Given the description of an element on the screen output the (x, y) to click on. 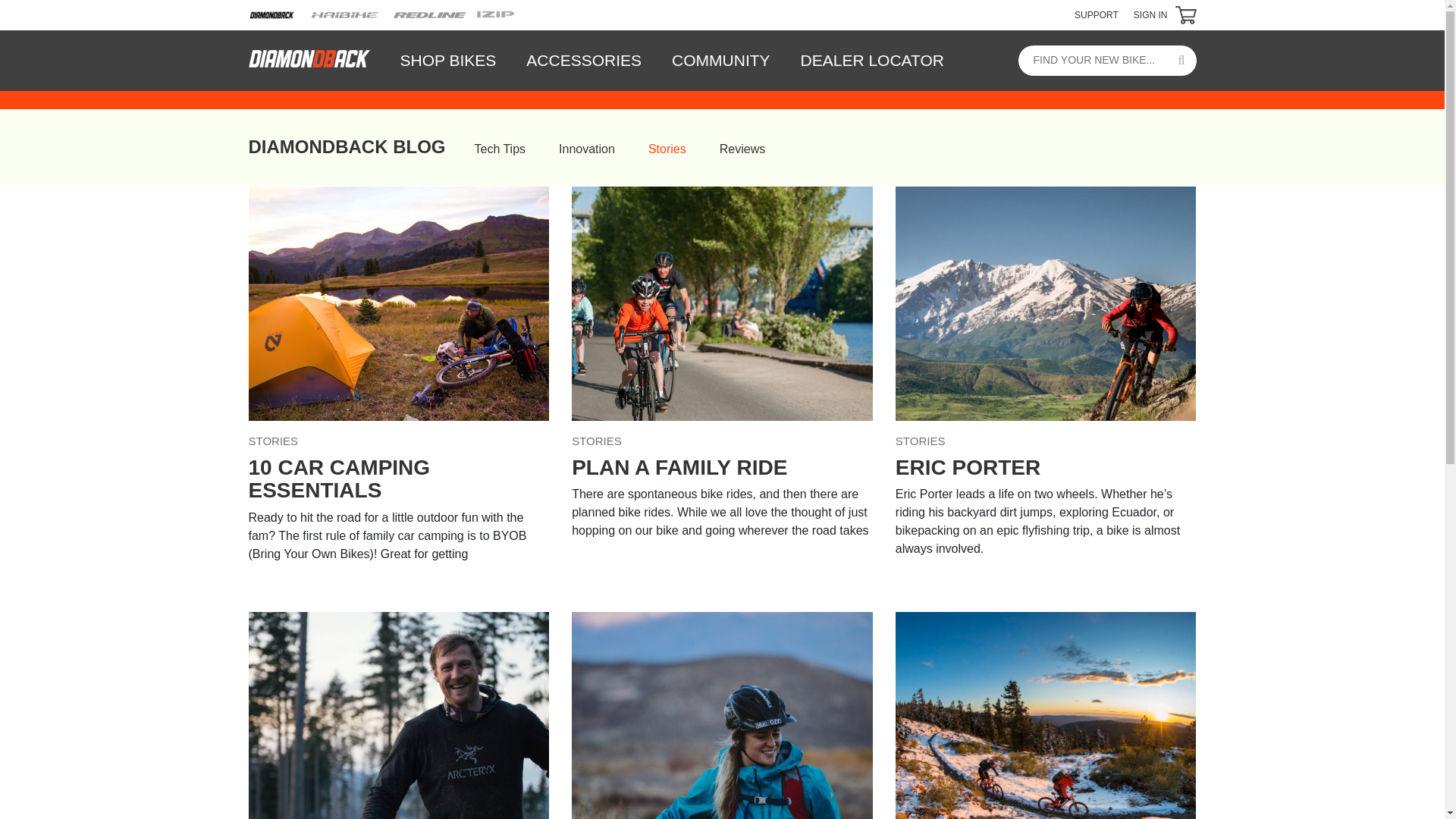
DIAMONDBACK BLOG (346, 146)
Accessories (583, 60)
SUPPORT (1096, 15)
SHOP BIKES (448, 60)
Community (721, 60)
STORIES (722, 441)
SIGN IN (1150, 14)
STORIES (399, 441)
Tech Tips (499, 149)
Stories (667, 149)
ACCESSORIES (583, 60)
Shop Bikes (448, 60)
Dealer Locator (864, 60)
Search (1181, 60)
10 CAR CAMPING ESSENTIALS (399, 479)
